Given the description of an element on the screen output the (x, y) to click on. 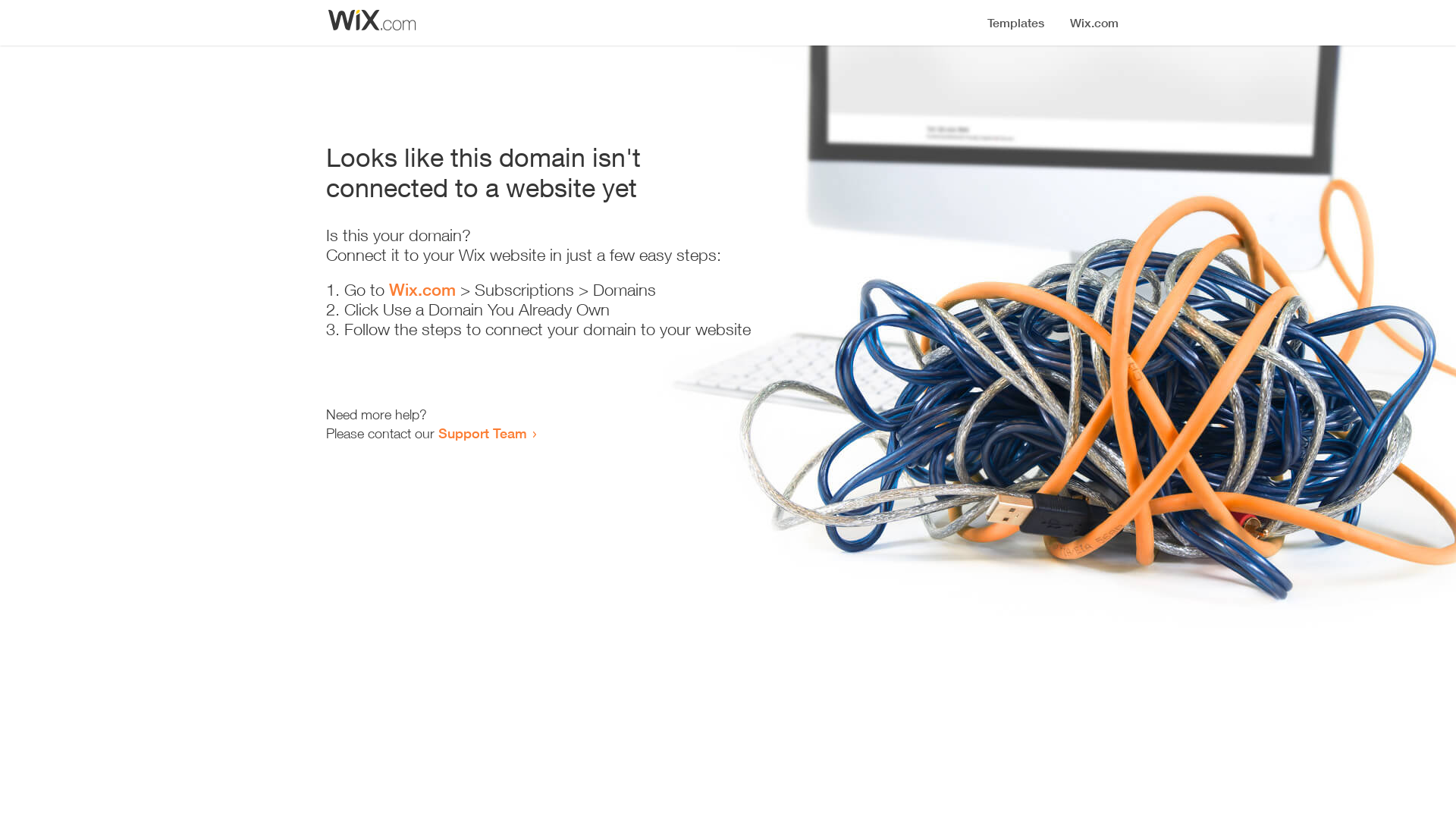
Support Team Element type: text (482, 432)
Wix.com Element type: text (422, 289)
